Given the description of an element on the screen output the (x, y) to click on. 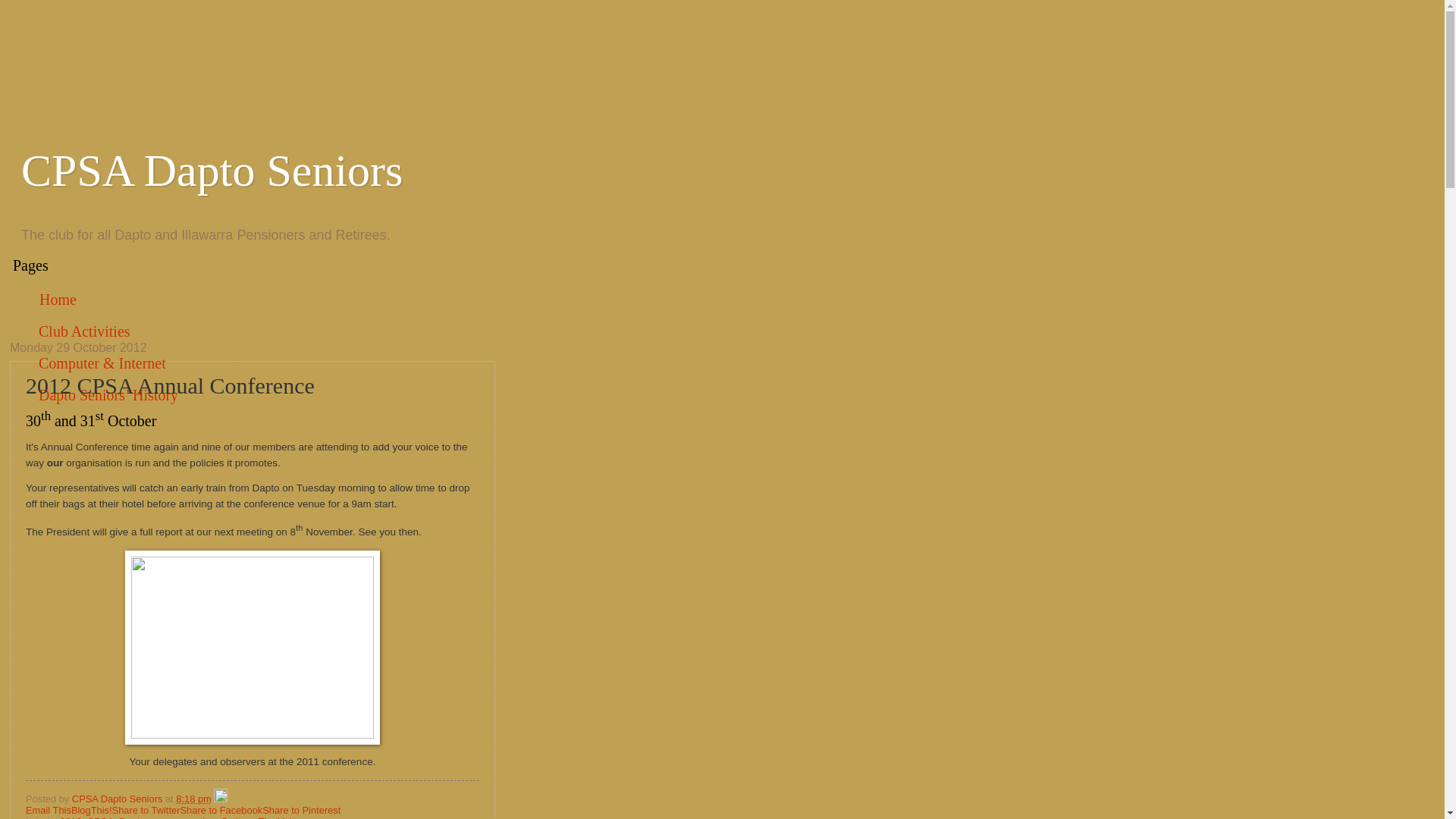
Sydney (237, 817)
author profile (118, 798)
Share to Twitter (146, 809)
permanent link (193, 798)
Share to Facebook (220, 809)
CPSA Dapto Seniors (212, 170)
BlogThis! (91, 809)
meeting (197, 817)
Club Activities (85, 331)
8:18 pm (193, 798)
BlogThis! (91, 809)
Share to Pinterest (301, 809)
Email This (48, 809)
CPSA Dapto Seniors (118, 798)
CPSA (100, 817)
